Given the description of an element on the screen output the (x, y) to click on. 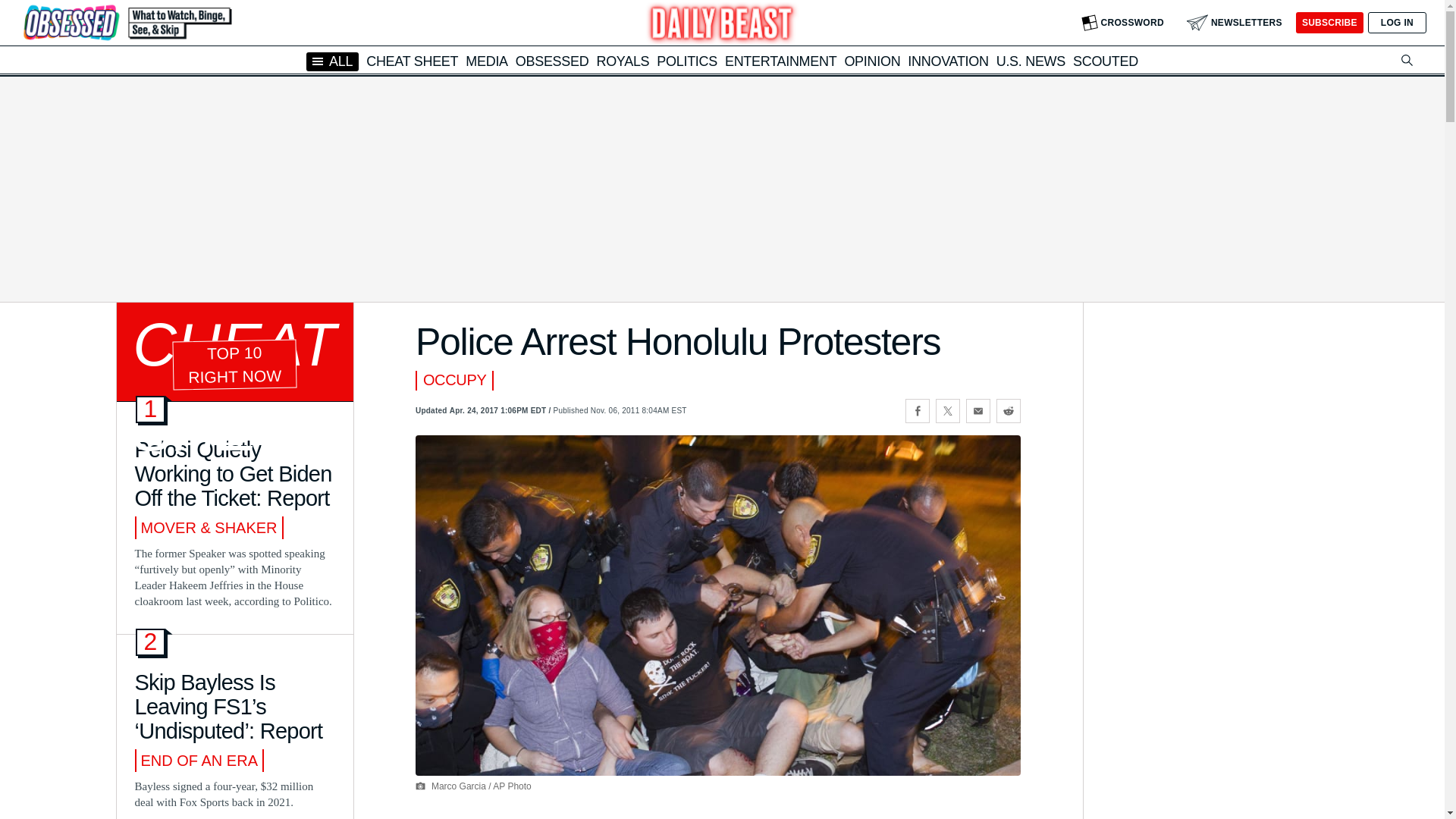
MEDIA (486, 60)
CHEAT SHEET (412, 60)
OPINION (871, 60)
ROYALS (622, 60)
POLITICS (686, 60)
LOG IN (1397, 22)
SCOUTED (1105, 60)
OBSESSED (552, 60)
CROSSWORD (1122, 22)
ALL (331, 60)
NEWSLETTERS (1234, 22)
INNOVATION (947, 60)
U.S. NEWS (1030, 60)
SUBSCRIBE (1328, 22)
ENTERTAINMENT (780, 60)
